Given the description of an element on the screen output the (x, y) to click on. 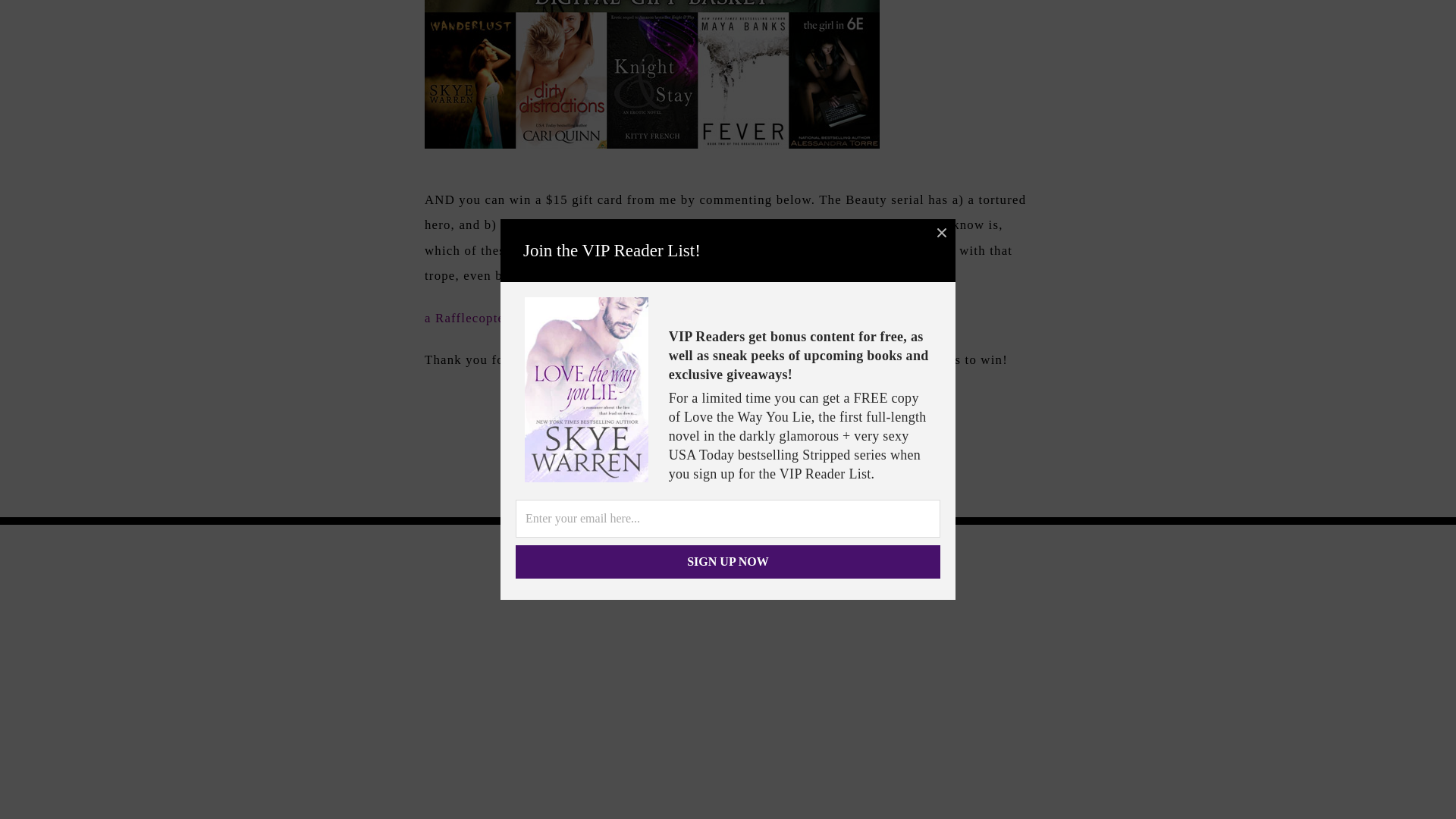
SIGN UP (827, 688)
